Given the description of an element on the screen output the (x, y) to click on. 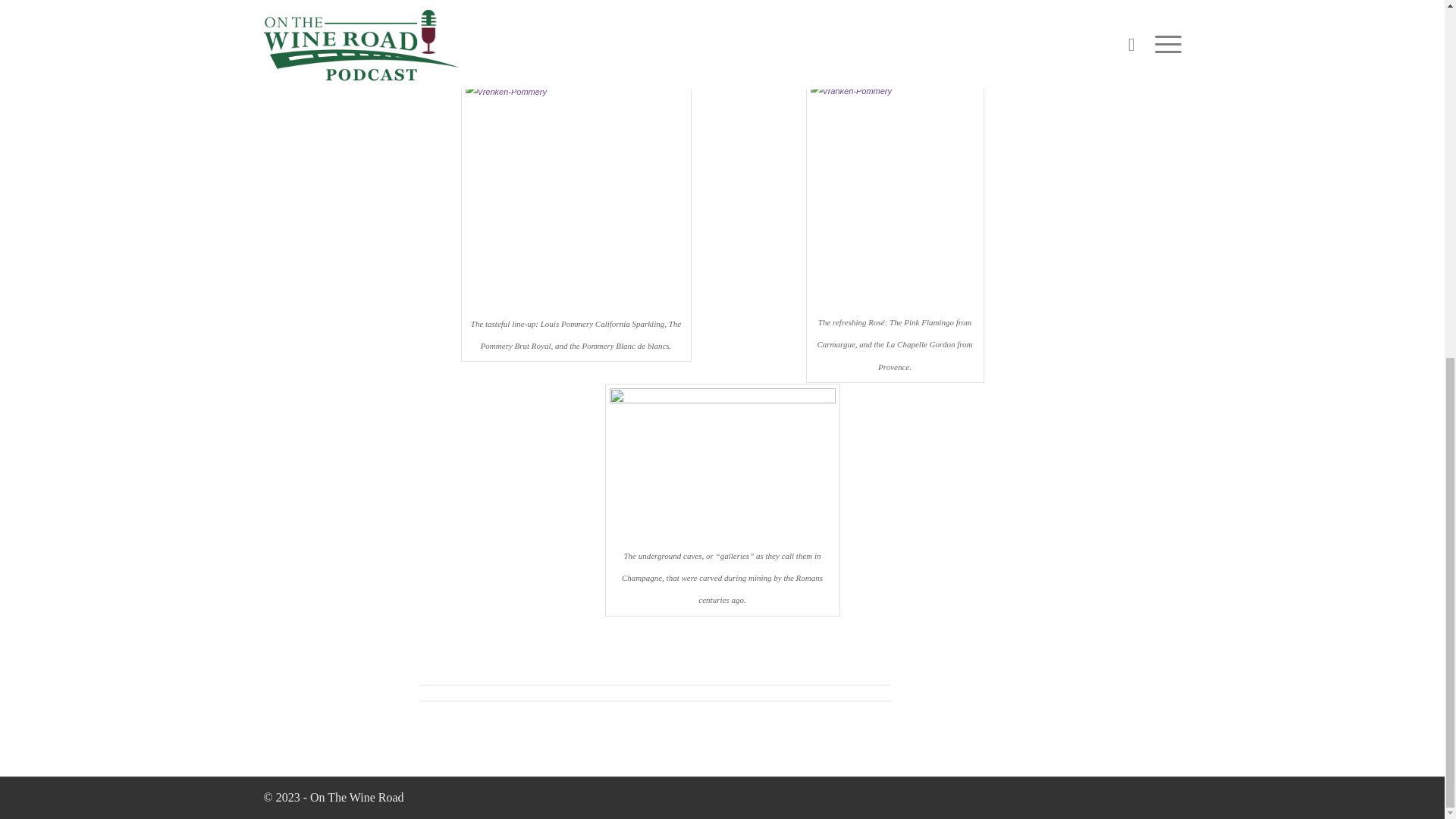
Vranken-Pommery (735, 0)
Play (472, 61)
Mute (926, 61)
